Given the description of an element on the screen output the (x, y) to click on. 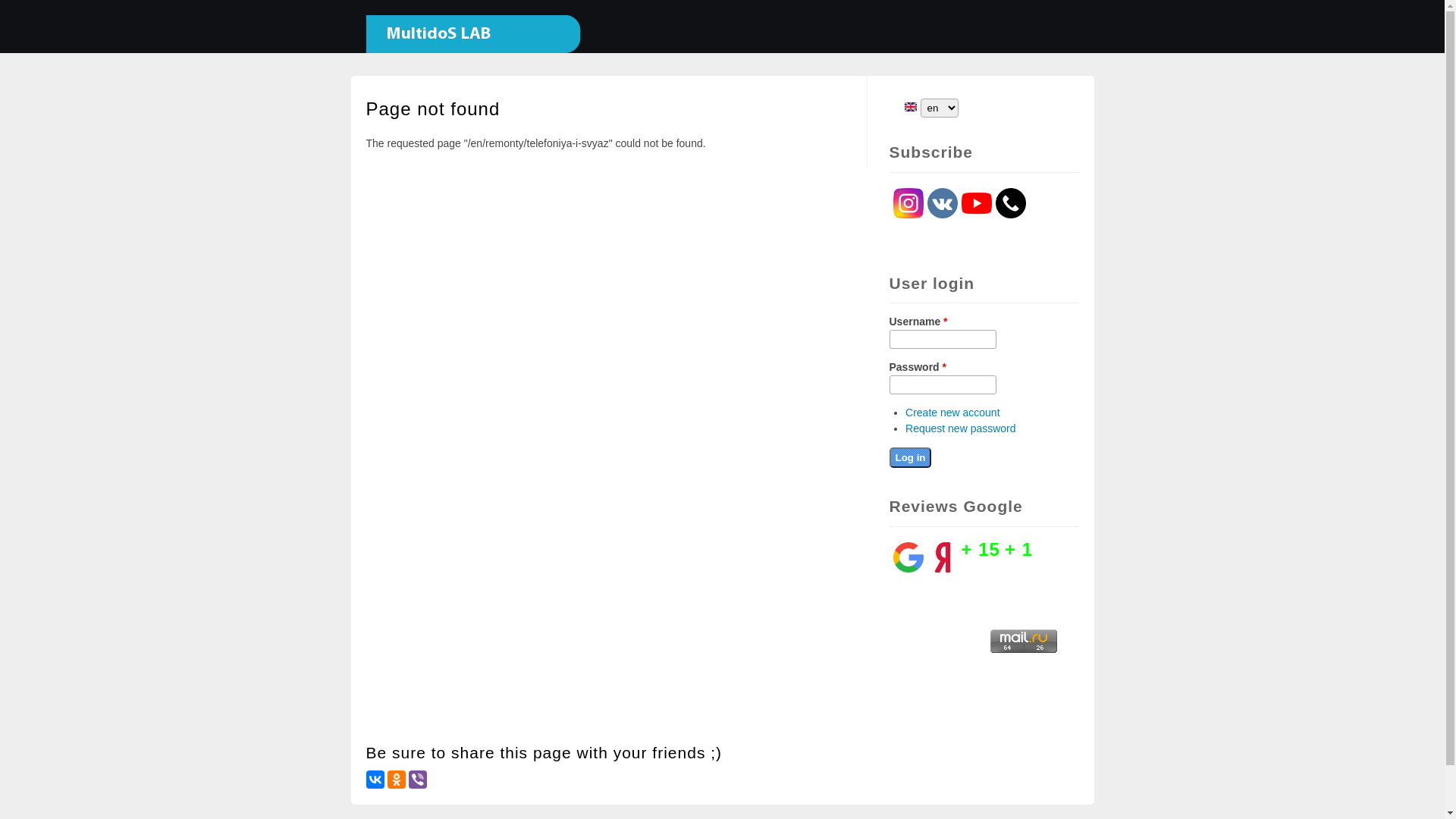
+ 1 Element type: text (1018, 548)
Log in Element type: text (909, 457)
Viber Element type: hover (416, 779)
+ 15 Element type: text (980, 548)
Request new password Element type: text (960, 428)
Home Element type: hover (465, 45)
Create new account Element type: text (952, 412)
en Element type: hover (909, 106)
